Given the description of an element on the screen output the (x, y) to click on. 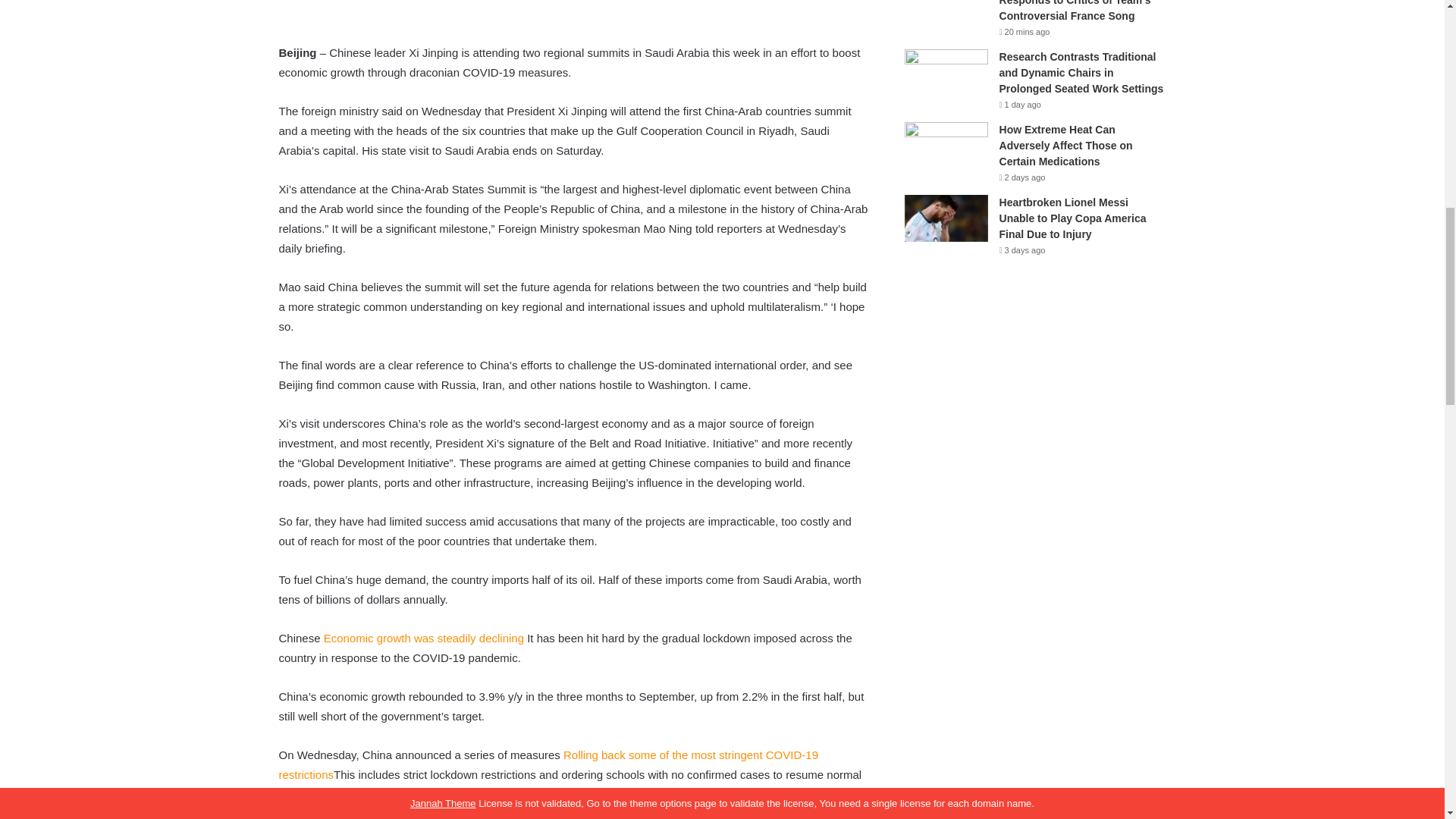
Economic growth was steadily declining (423, 637)
